Given the description of an element on the screen output the (x, y) to click on. 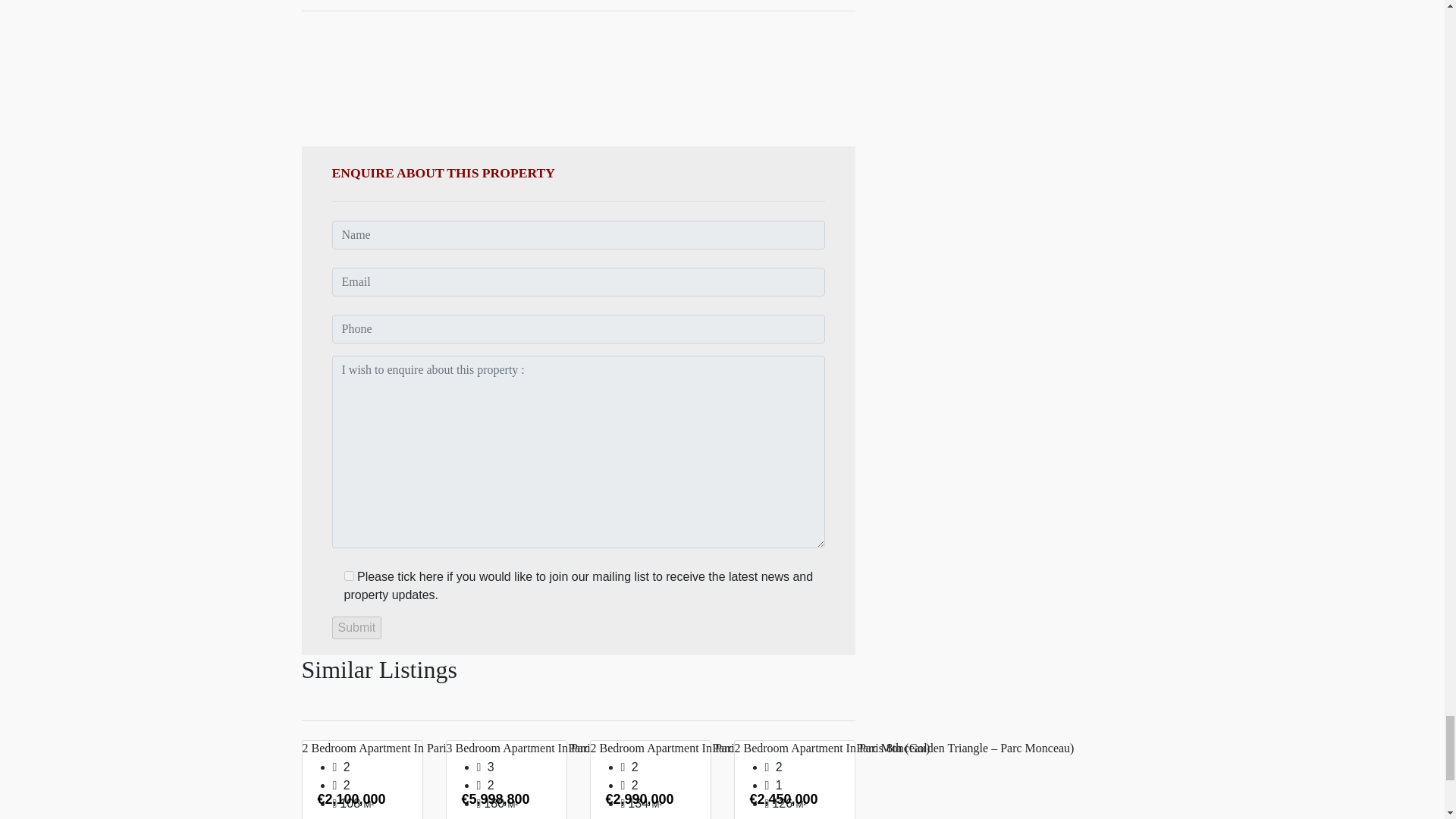
Submit (356, 627)
